Given the description of an element on the screen output the (x, y) to click on. 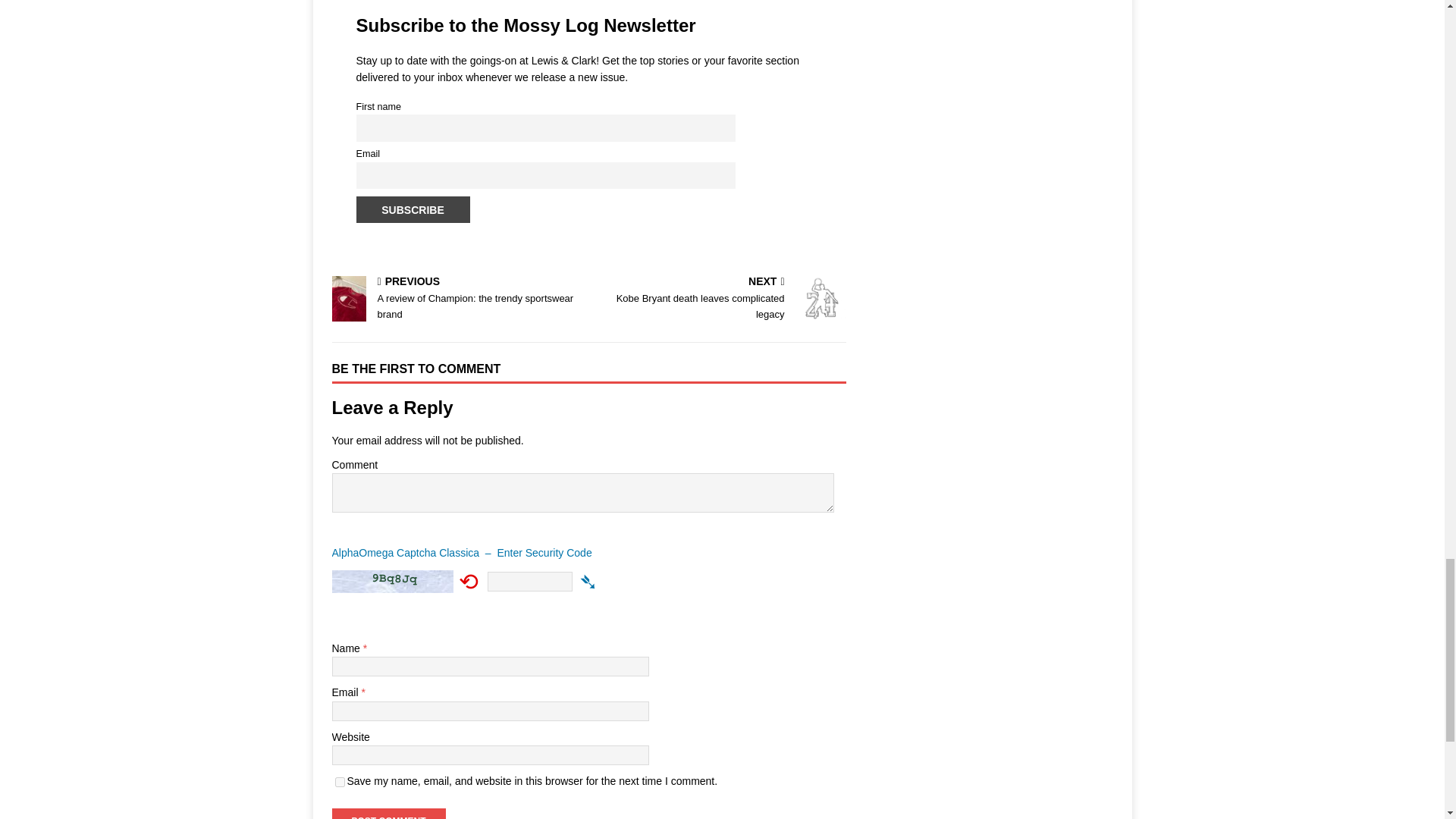
 Checkout the AlphaOmega Captcha Plugin at WordPress.org  (588, 580)
yes (339, 782)
Subscribe (413, 209)
 Reload AlphaOmega Captcha  (468, 580)
 Checkout the AlphaOmega Captcha Plugin at WordPress.org  (588, 556)
Post Comment (388, 813)
